Given the description of an element on the screen output the (x, y) to click on. 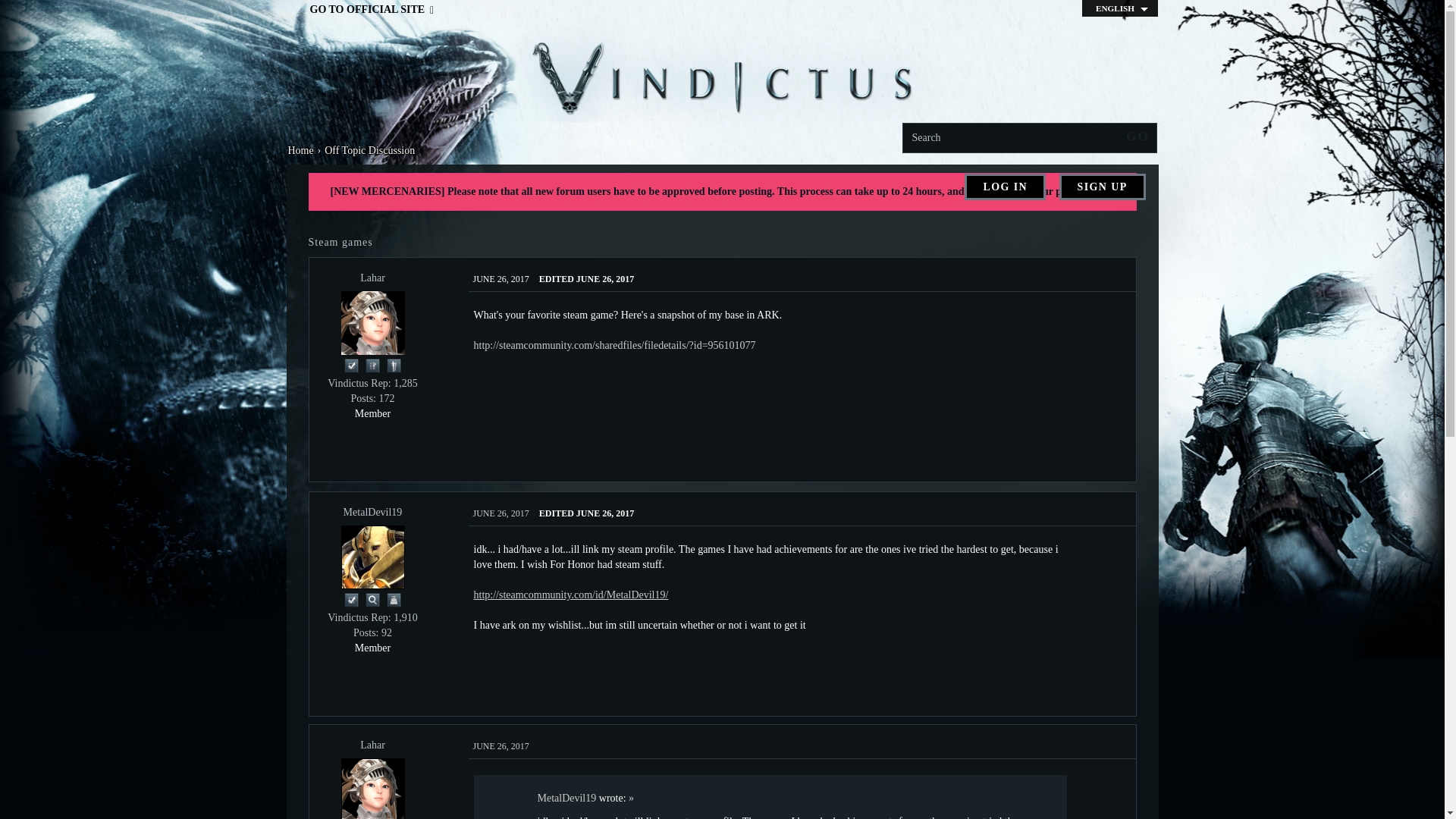
I Voted! (351, 598)
June 26, 2017  6:02AM (501, 278)
Edited June 26, 2017 1:31PM by MetalDevil19. (585, 512)
Lahar (372, 322)
I Voted! (351, 364)
I wonder... (373, 598)
Go (1137, 135)
Lahar (372, 788)
June 26, 2017 12:30PM (501, 746)
Happy Birthday! (394, 598)
Pollster (373, 364)
MetalDevil19 (372, 556)
Edited June 26, 2017 1:02PM by Lahar. (585, 278)
Personality (394, 364)
June 26, 2017  6:28AM (501, 512)
